Given the description of an element on the screen output the (x, y) to click on. 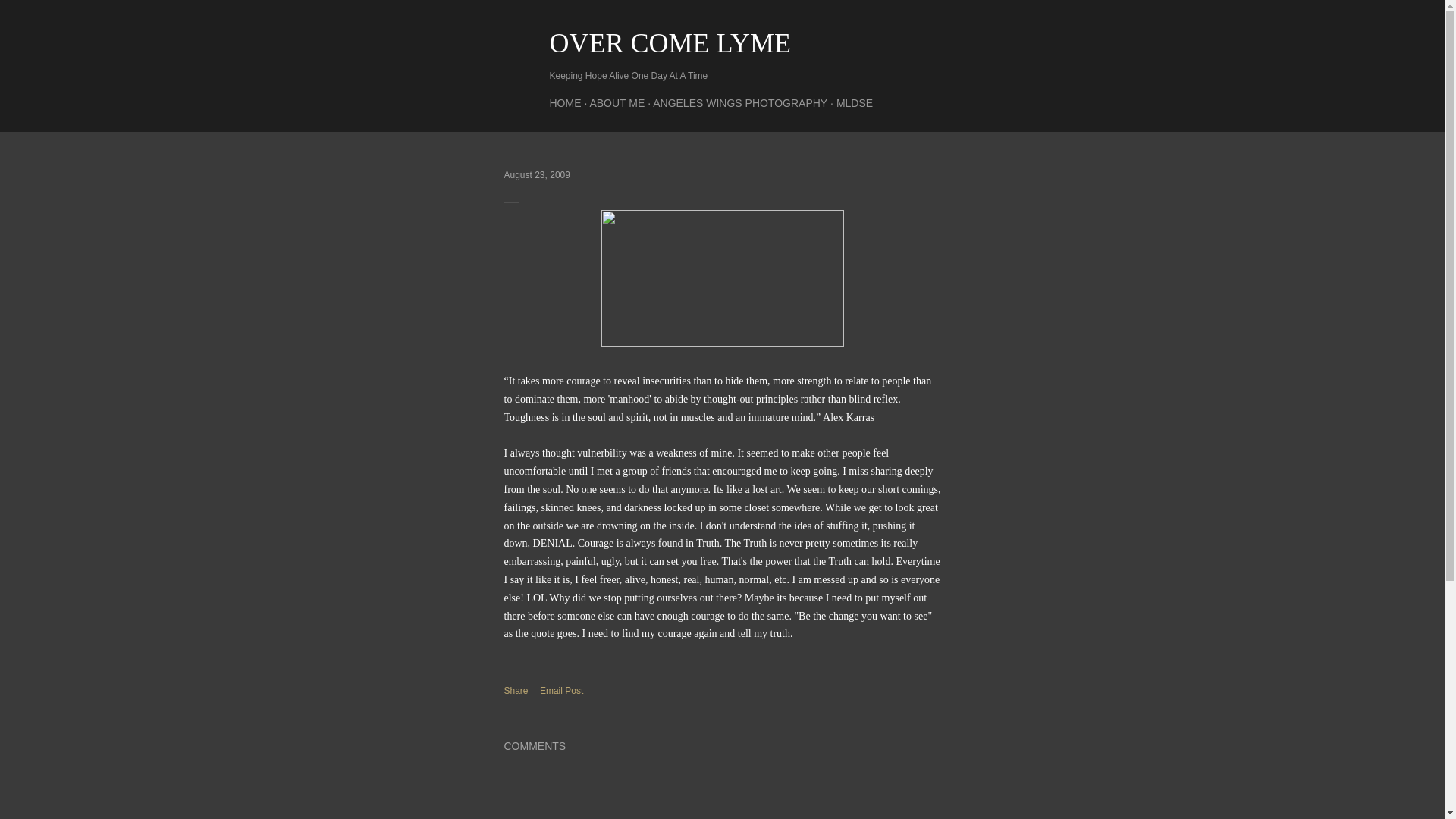
August 23, 2009 (536, 174)
ABOUT ME (617, 102)
ANGELES WINGS PHOTOGRAPHY (739, 102)
Email Post (561, 690)
OVER COME LYME (669, 42)
Share (515, 690)
HOME (564, 102)
MLDSE (853, 102)
permanent link (536, 174)
